Given the description of an element on the screen output the (x, y) to click on. 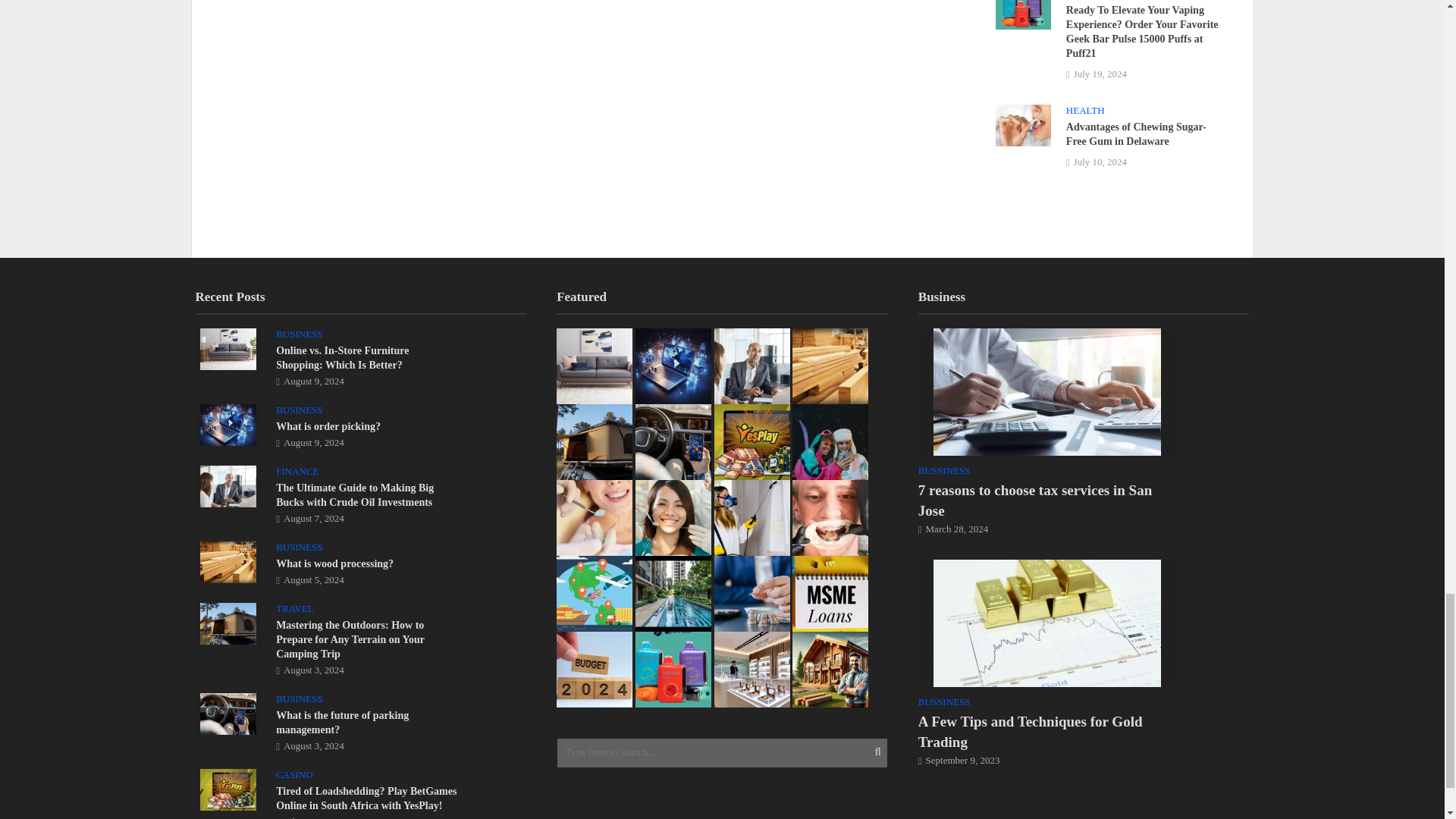
Online vs. In-Store Furniture Shopping: Which Is Better? (228, 347)
Advantages of Chewing Sugar-Free Gum in Delaware (1021, 123)
